Given the description of an element on the screen output the (x, y) to click on. 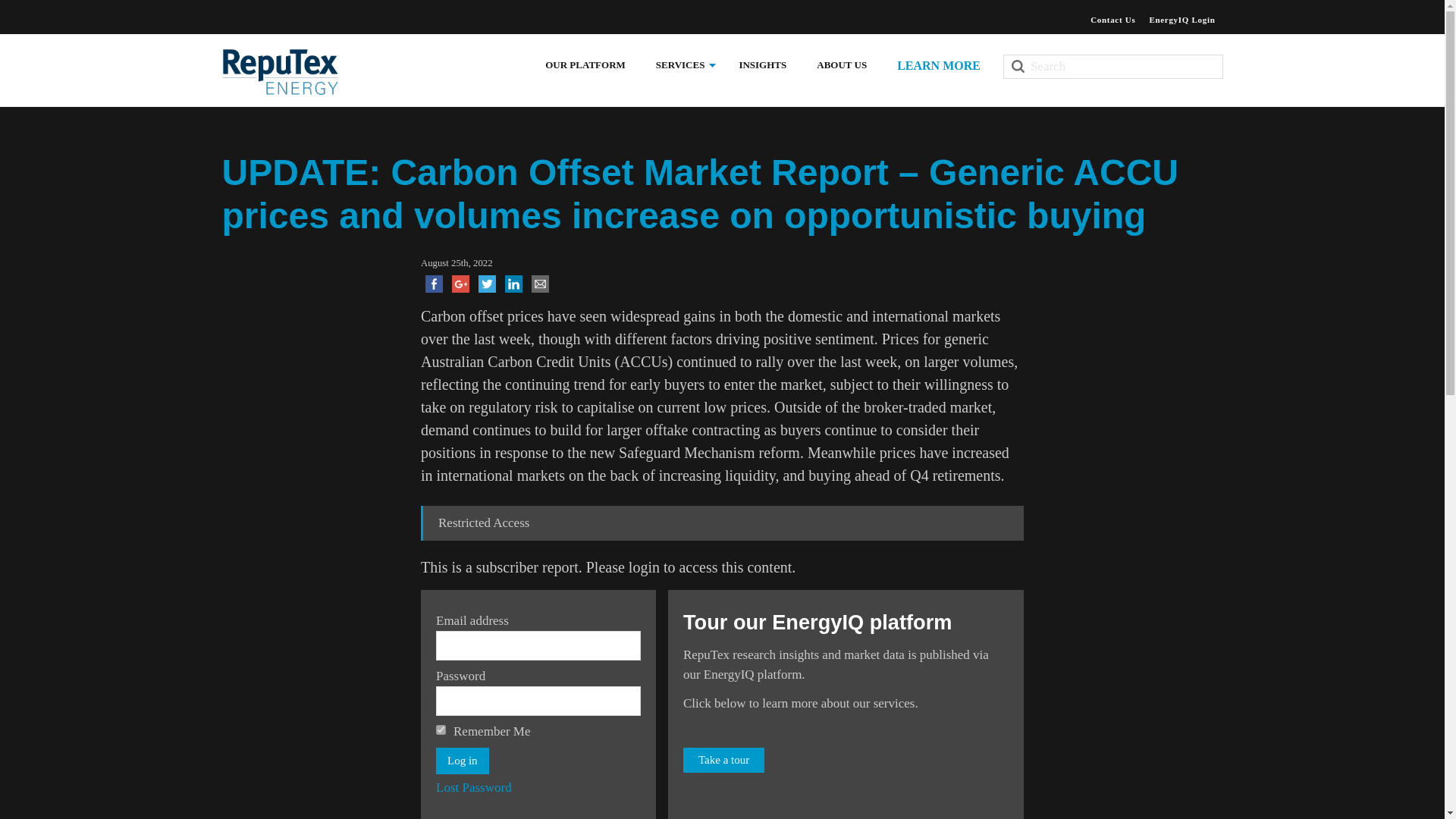
Log in (462, 760)
ABOUT US (842, 65)
Log in (462, 760)
OUR PLATFORM (584, 65)
forever (440, 729)
EnergyIQ Login (1182, 21)
Facebook (433, 284)
LEARN MORE (938, 63)
Search (1113, 66)
Lost Password (473, 787)
Twitter (487, 284)
Take a tour (723, 760)
Email (540, 284)
SERVICES (681, 65)
LinkedIn (513, 284)
